Given the description of an element on the screen output the (x, y) to click on. 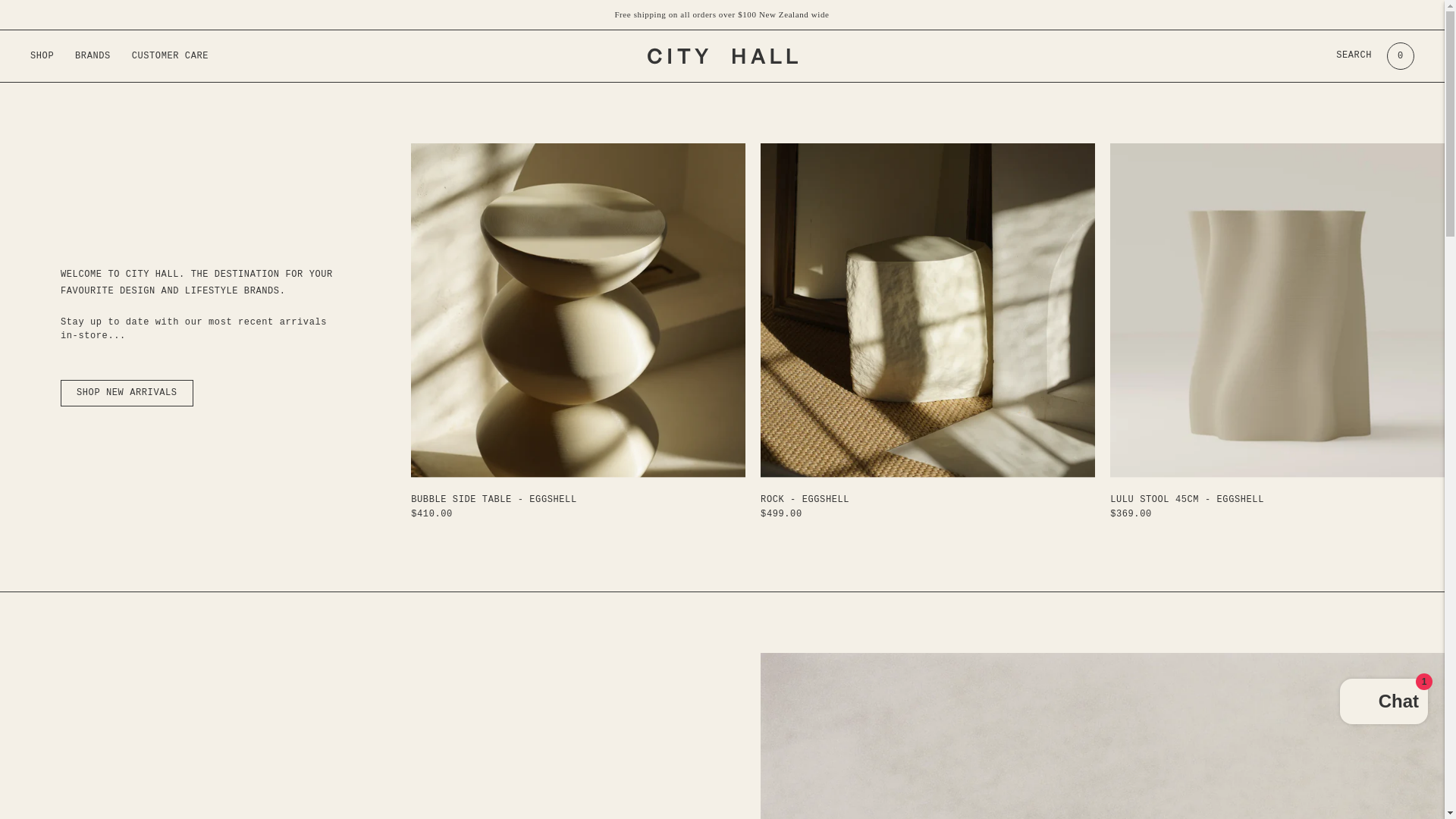
Shopify online store chat (1383, 703)
BRANDS (92, 56)
SHOP (41, 56)
